Given the description of an element on the screen output the (x, y) to click on. 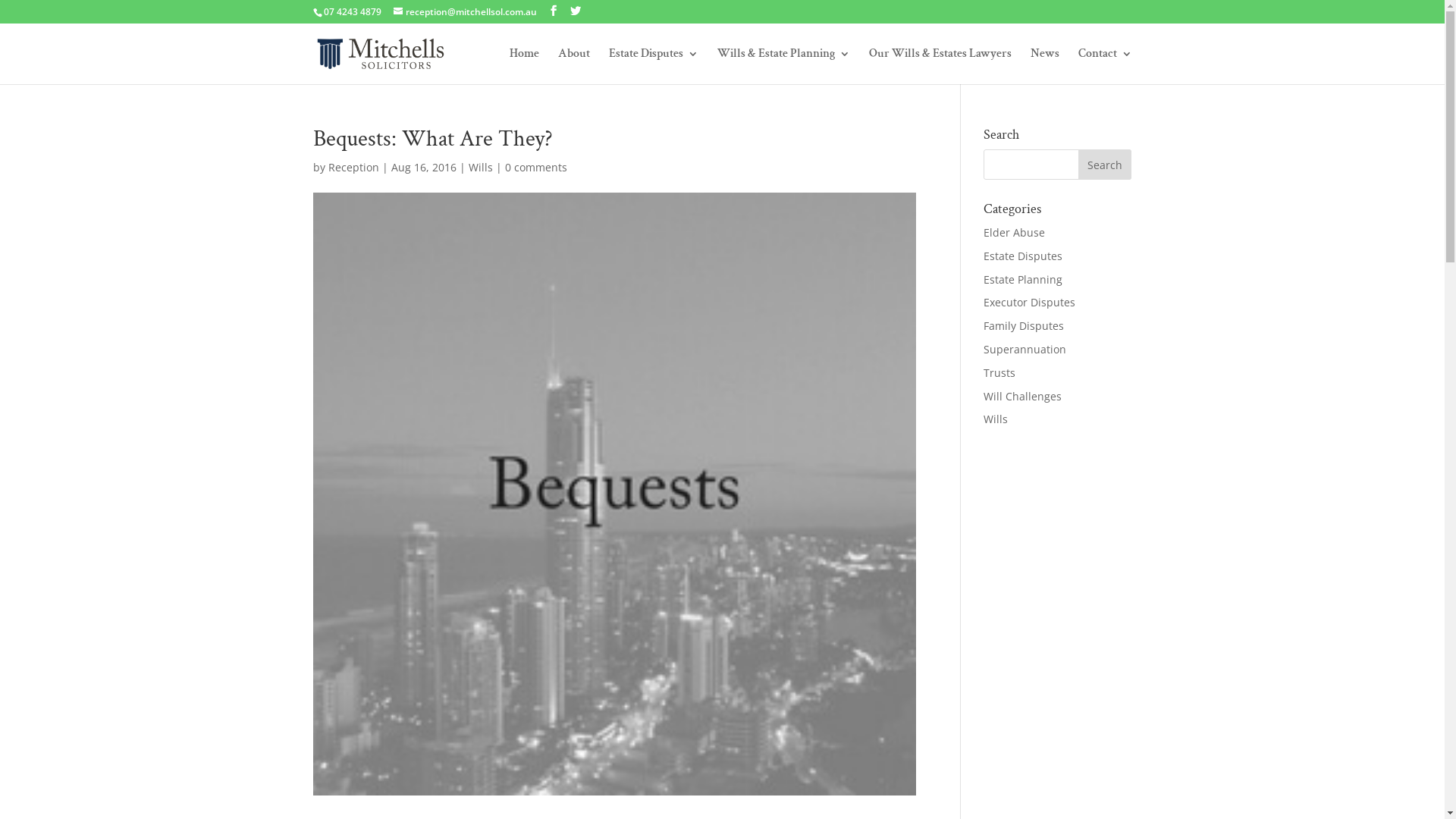
Home Element type: text (524, 66)
0 comments Element type: text (536, 167)
Elder Abuse Element type: text (1013, 232)
Executor Disputes Element type: text (1029, 301)
Estate Disputes Element type: text (652, 66)
Search Element type: text (1104, 164)
Will Challenges Element type: text (1022, 396)
Wills Element type: text (995, 418)
Estate Disputes Element type: text (1022, 255)
reception@mitchellsol.com.au Element type: text (464, 11)
Superannuation Element type: text (1024, 349)
Trusts Element type: text (999, 372)
Wills & Estate Planning Element type: text (783, 66)
About Element type: text (573, 66)
Contact Element type: text (1105, 66)
News Element type: text (1043, 66)
Our Wills & Estates Lawyers Element type: text (940, 66)
Wills Element type: text (480, 167)
Family Disputes Element type: text (1023, 325)
Estate Planning Element type: text (1022, 279)
Reception Element type: text (352, 167)
